Given the description of an element on the screen output the (x, y) to click on. 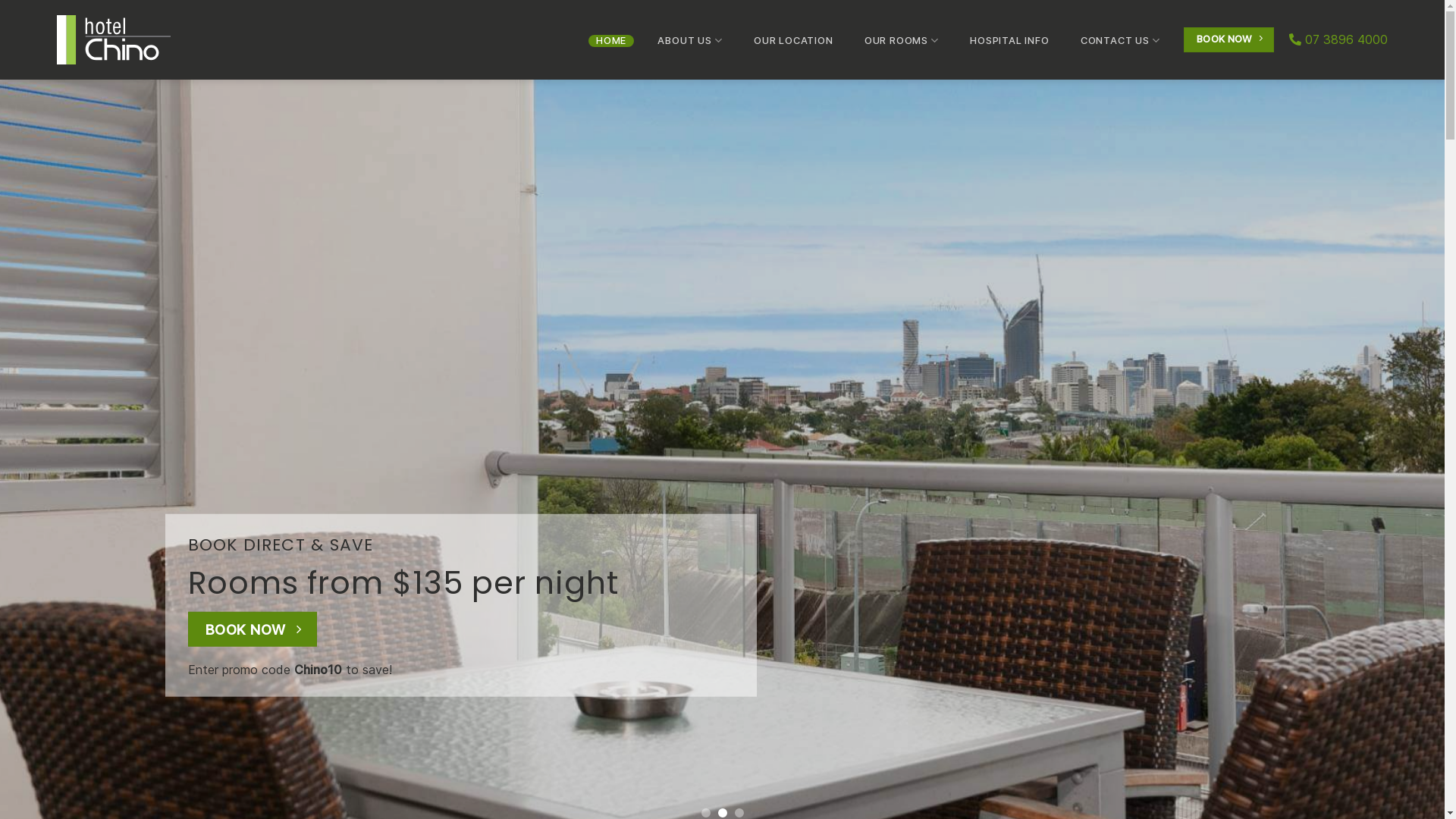
OUR ROOMS Element type: text (900, 40)
Hotel Chino Element type: hover (132, 39)
HOSPITAL INFO Element type: text (1010, 40)
BOOK NOW Element type: text (252, 628)
BOOK NOW Element type: text (1228, 39)
ABOUT US Element type: text (690, 40)
HOME Element type: text (610, 40)
Skip to content Element type: text (0, 0)
CONTACT US Element type: text (1120, 40)
07 3896 4000 Element type: text (1338, 39)
OUR LOCATION Element type: text (793, 40)
